Given the description of an element on the screen output the (x, y) to click on. 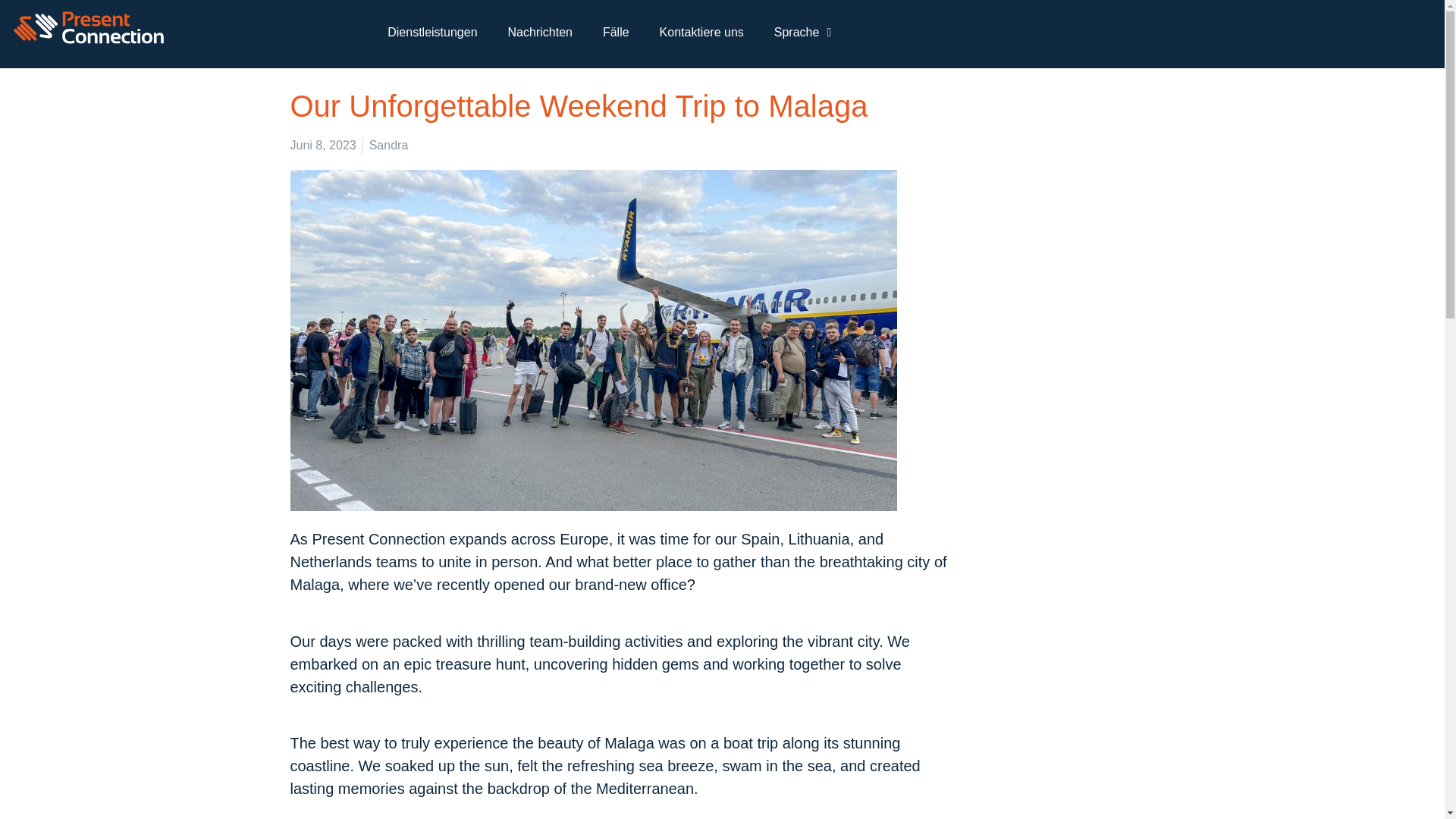
Sprache (801, 32)
Dienstleistungen (432, 32)
Nachrichten (540, 32)
Juni 8, 2023 (322, 145)
Kontaktiere uns (701, 32)
